Given the description of an element on the screen output the (x, y) to click on. 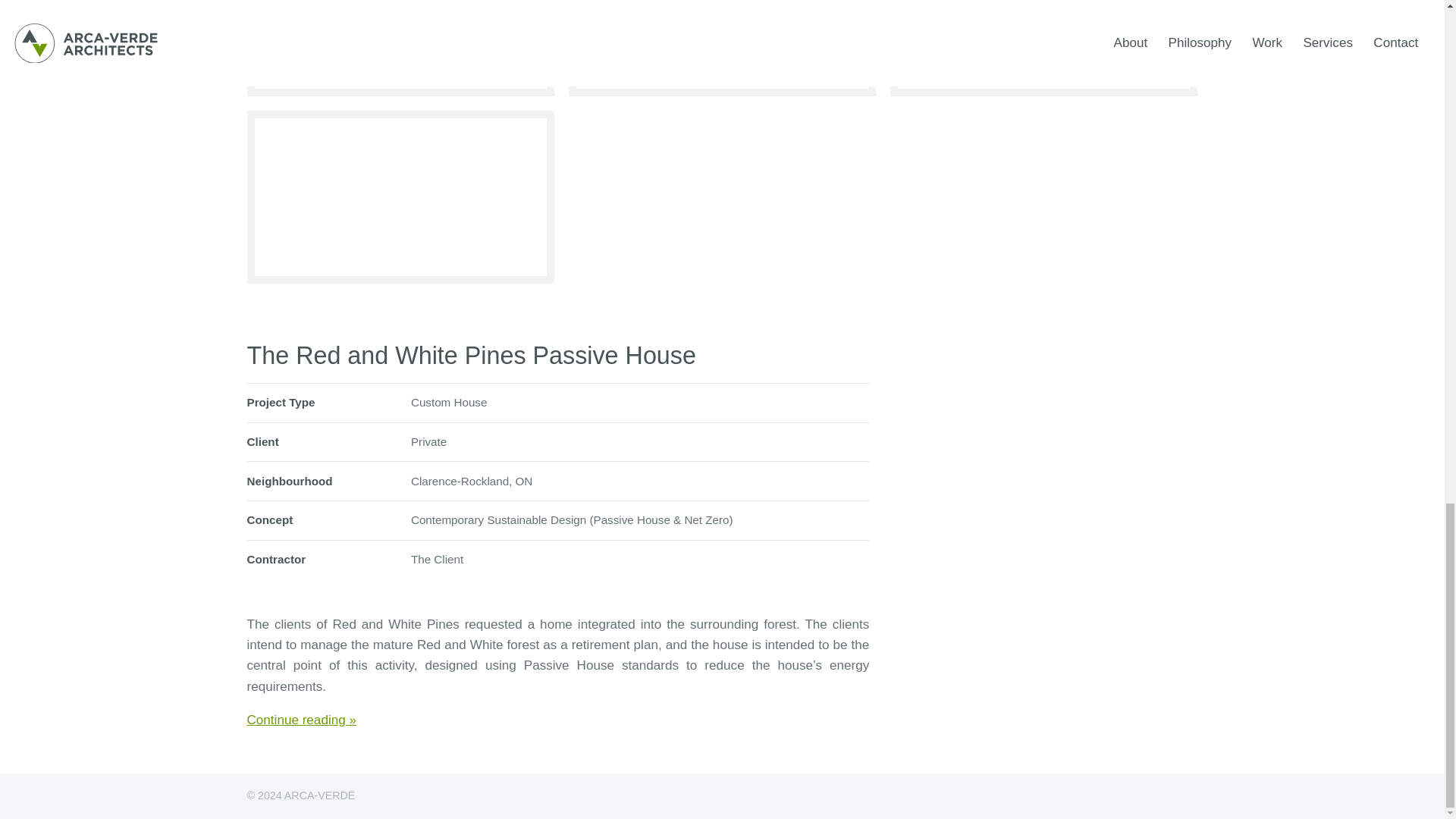
Red and White Pines - Main Floor Great Room View  (400, 48)
Red and White Pines - Great Room From Above  (1042, 48)
Red and White Pines - Project at Twilight  (400, 196)
Red and White Pines - Kitchen   (722, 48)
